Given the description of an element on the screen output the (x, y) to click on. 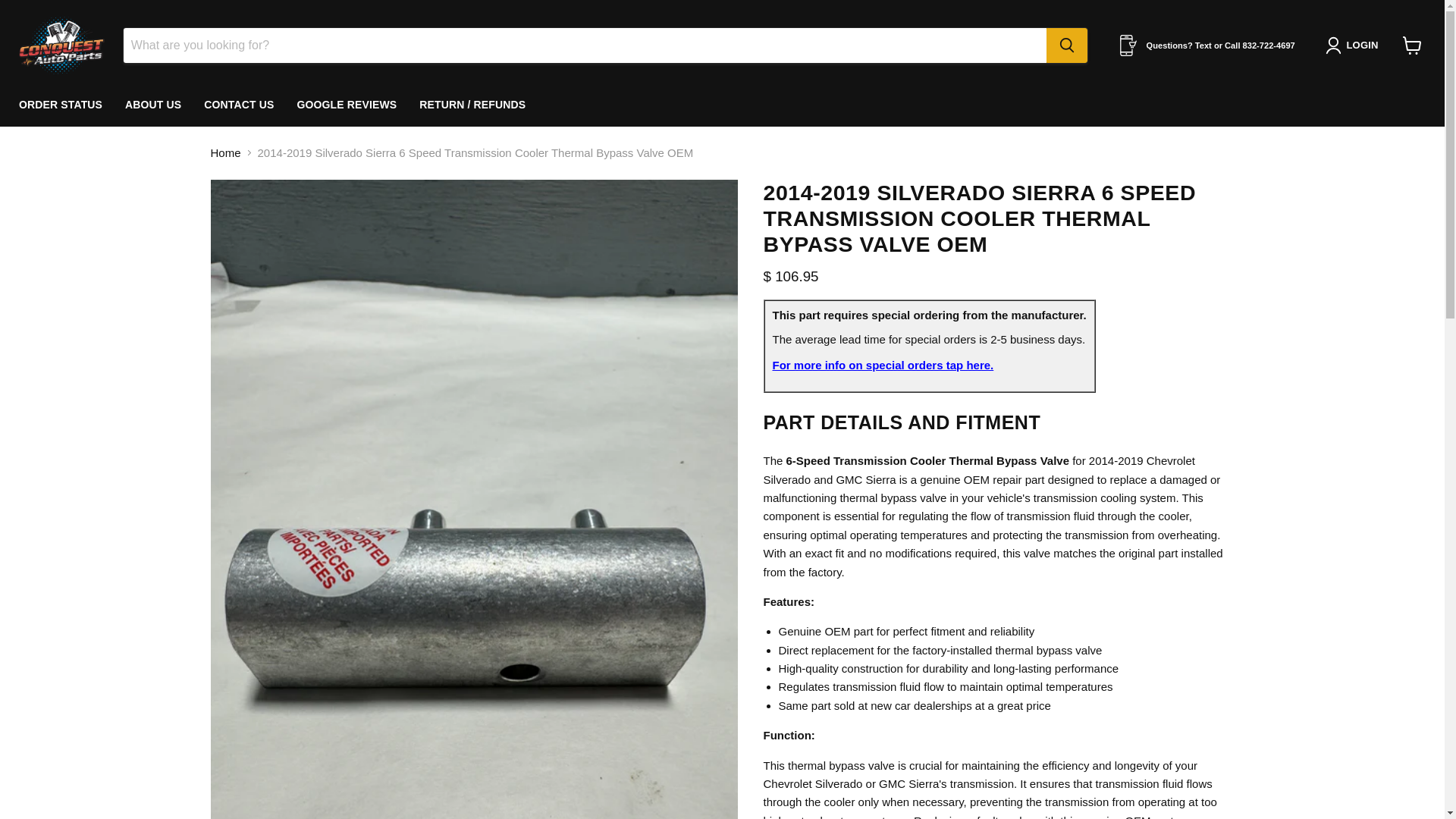
ABOUT US (152, 104)
GOOGLE REVIEWS (346, 104)
LOGIN (1354, 45)
For more info on special orders tap here. (881, 364)
View cart (1411, 45)
ORDER STATUS (60, 104)
CONTACT US (238, 104)
Questions? Text or Call 832-722-4697 (1206, 45)
Home (226, 152)
